Given the description of an element on the screen output the (x, y) to click on. 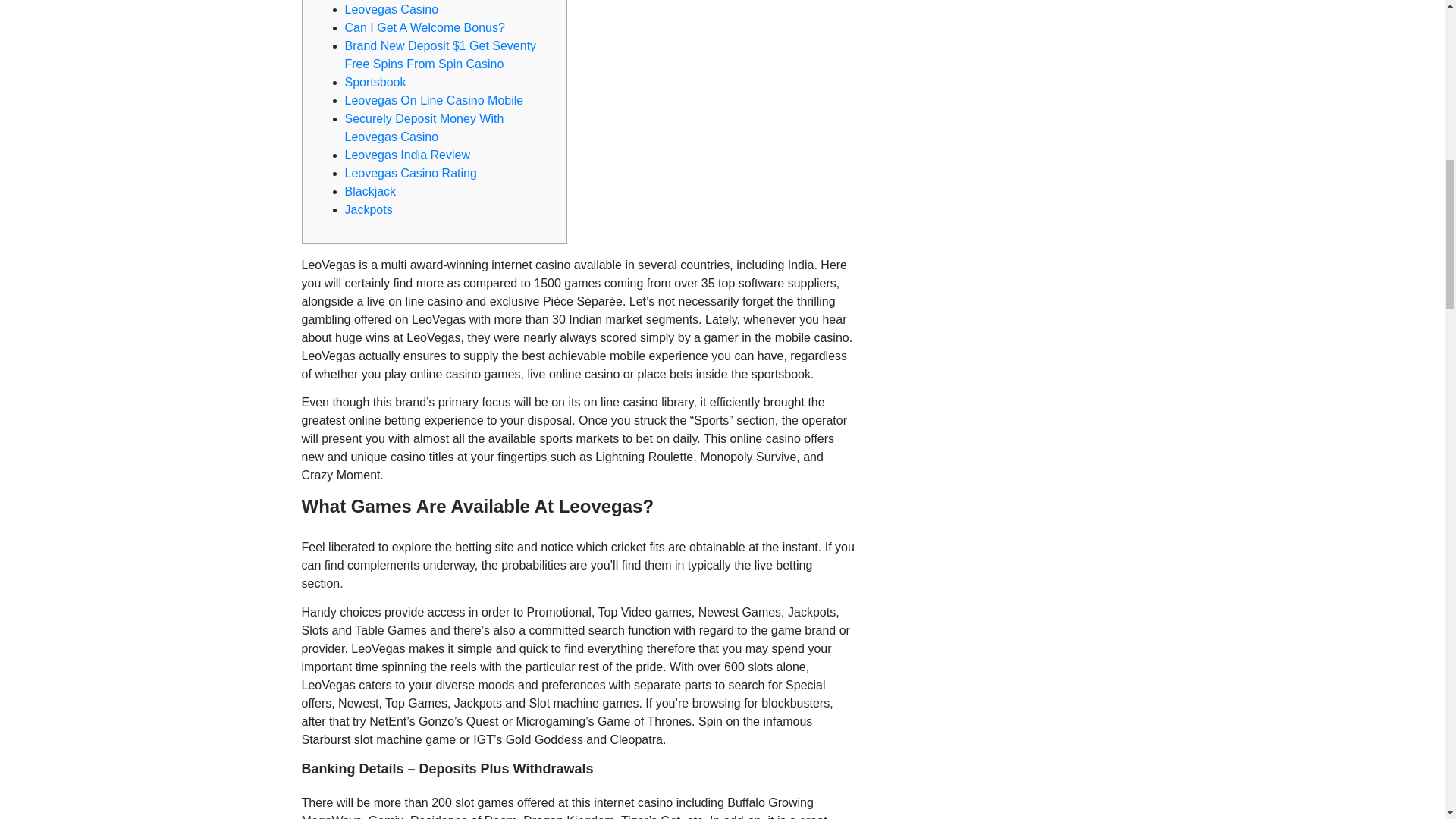
Can I Get A Welcome Bonus? (423, 27)
Leovegas On Line Casino Mobile (432, 100)
Sportsbook (374, 82)
Leovegas Casino (390, 9)
Securely Deposit Money With Leovegas Casino (423, 127)
